Given the description of an element on the screen output the (x, y) to click on. 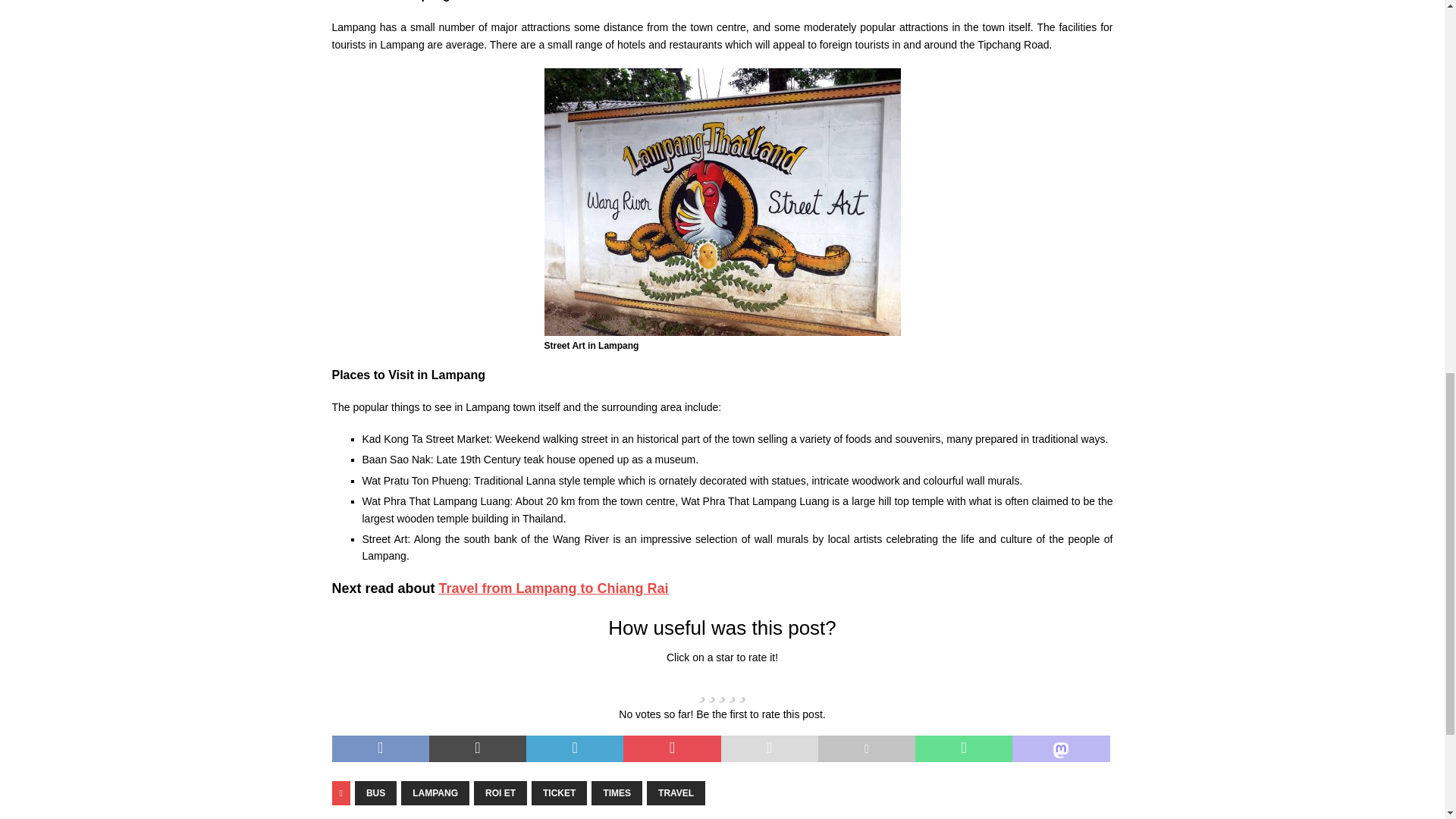
Travel from Lampang to Chiang Rai (553, 588)
Share on Whatsapp (963, 748)
Share On Mastodon (1060, 748)
Print this article (866, 748)
Tweet This Post (477, 748)
Pin This Post (671, 748)
Send this article to a friend (769, 748)
Share on LinkedIn (574, 748)
Share on Facebook (380, 748)
